Given the description of an element on the screen output the (x, y) to click on. 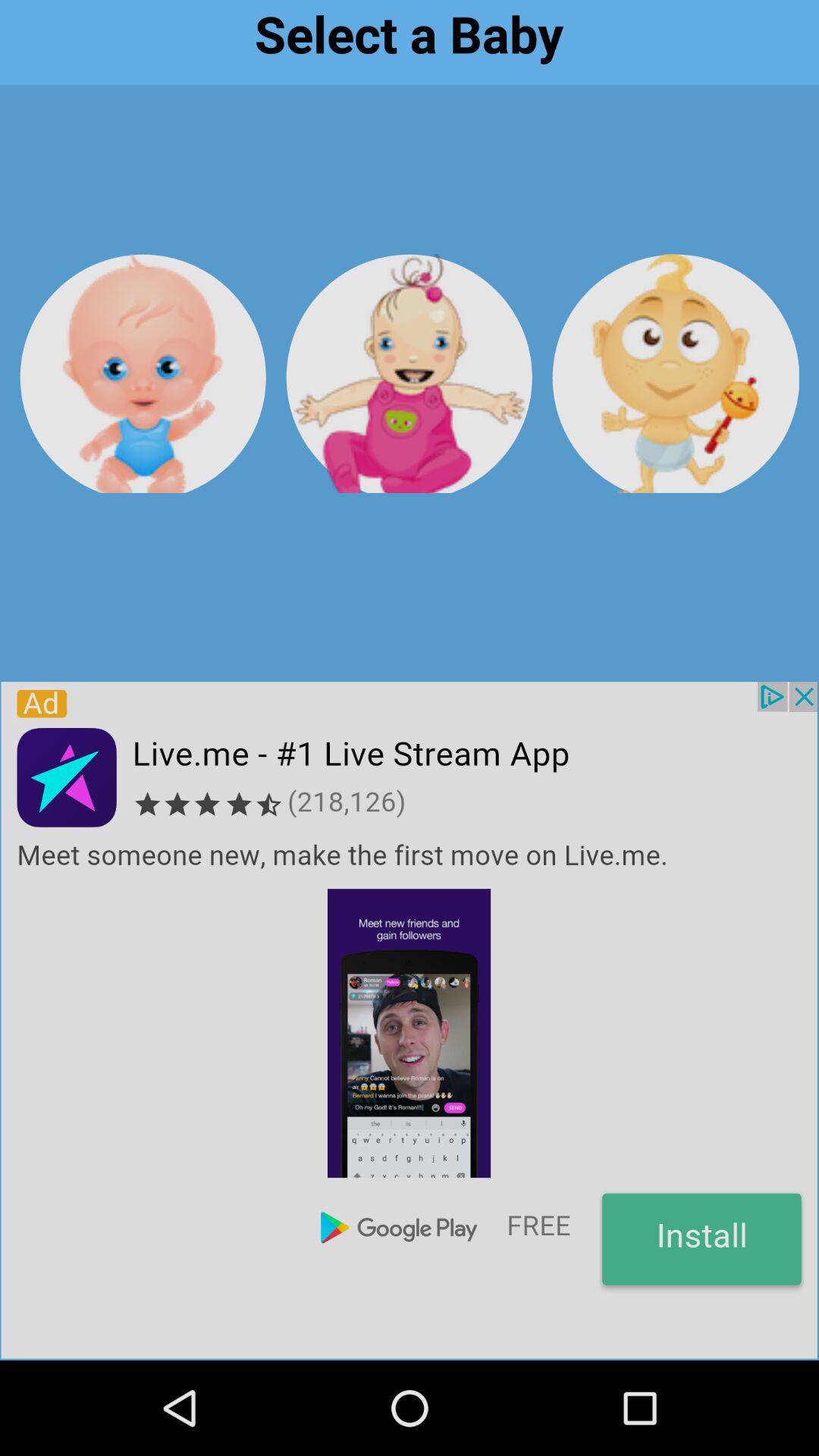
open advertisement (409, 1019)
